Given the description of an element on the screen output the (x, y) to click on. 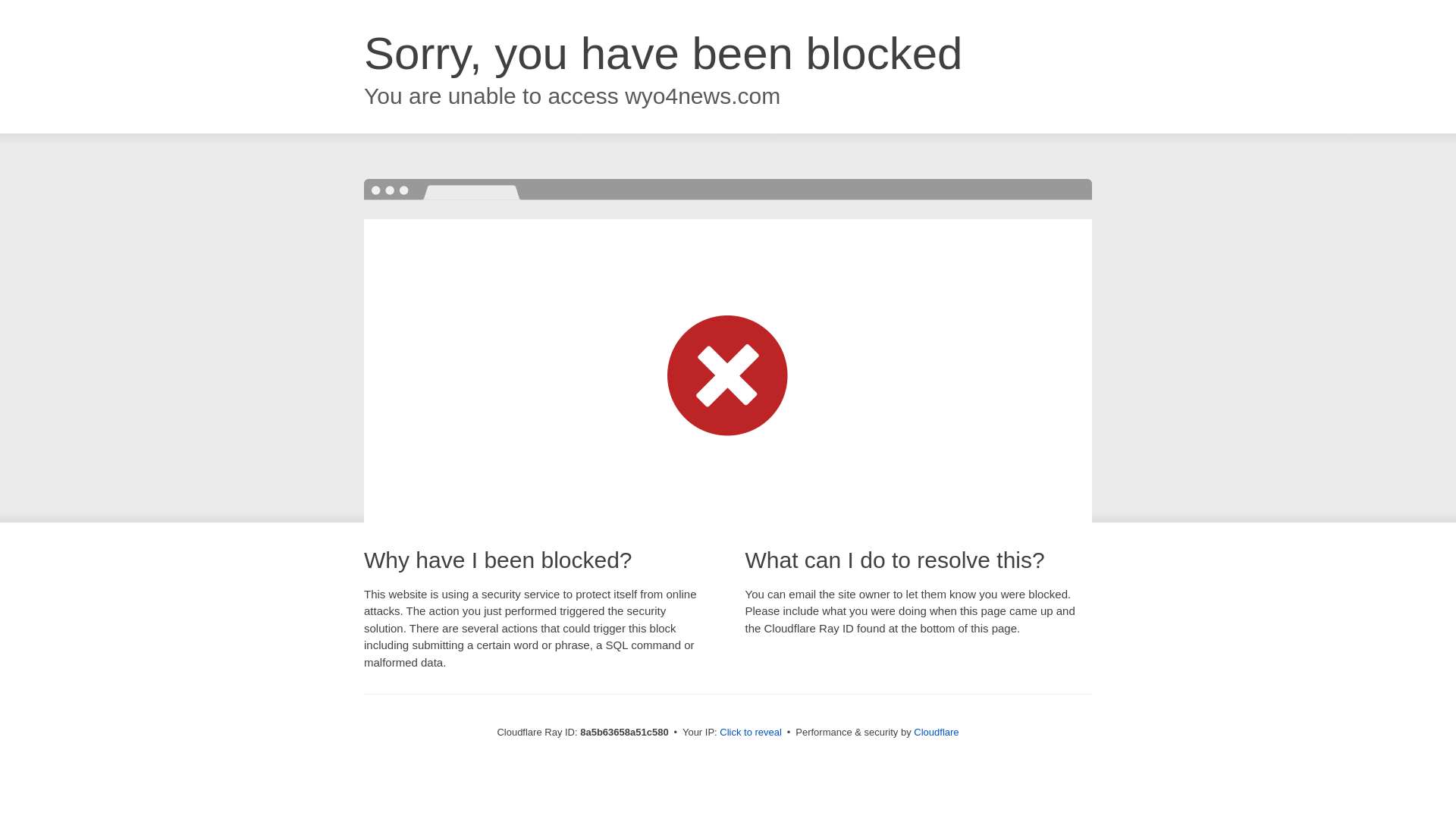
Click to reveal (750, 732)
Cloudflare (936, 731)
